Given the description of an element on the screen output the (x, y) to click on. 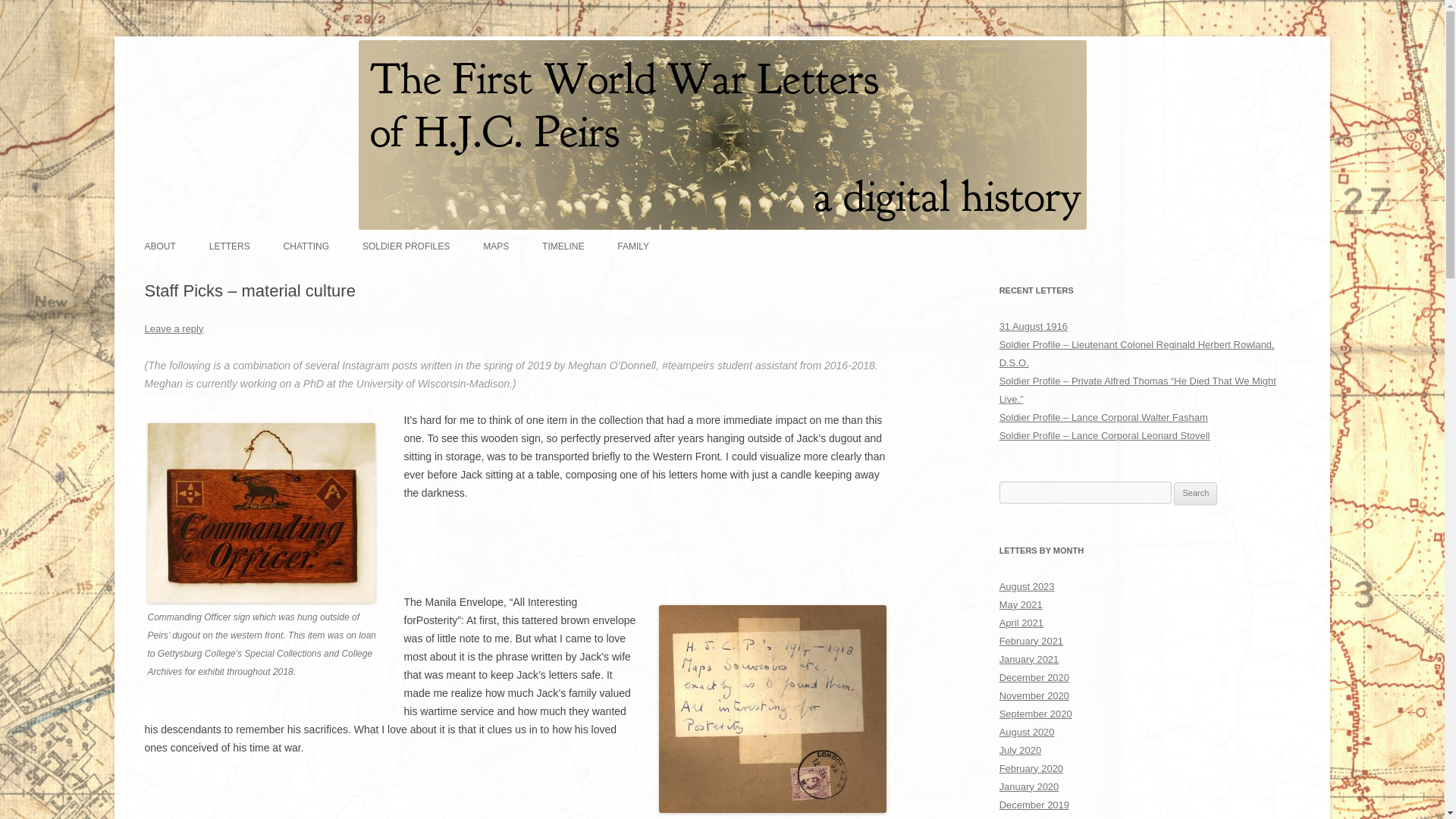
LETTERS (229, 246)
Leave a reply (173, 328)
ABOUT H.J.C. PEIRS (219, 278)
ABOUT (159, 246)
TIMELINE (562, 246)
SOLDIER PROFILES (405, 246)
31 August 1916 (1032, 326)
FAMILY (633, 246)
Jack Peirs (192, 58)
Jack Peirs (192, 58)
BIOGRAPHIES (692, 278)
MAPS (495, 246)
CHATTING (306, 246)
